Given the description of an element on the screen output the (x, y) to click on. 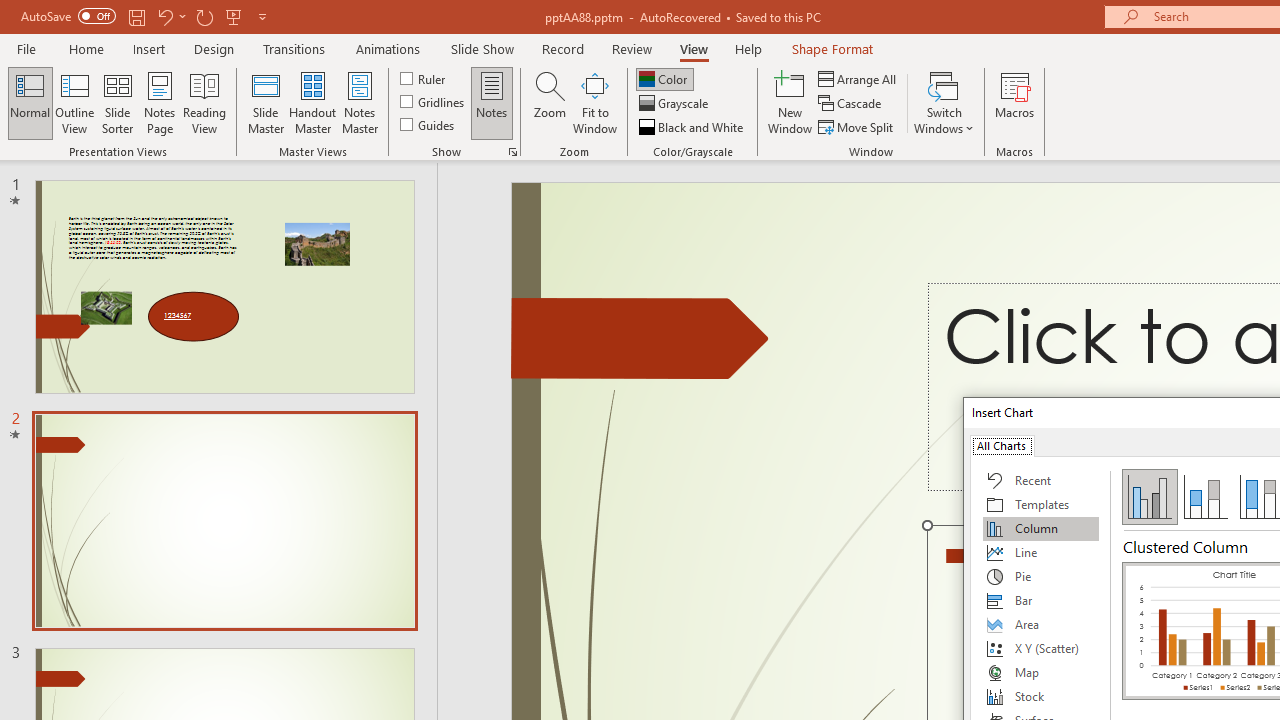
Move Split (857, 126)
Black and White (693, 126)
Recent (1041, 480)
Notes Page (159, 102)
X Y (Scatter) (1041, 648)
Gridlines (433, 101)
